Given the description of an element on the screen output the (x, y) to click on. 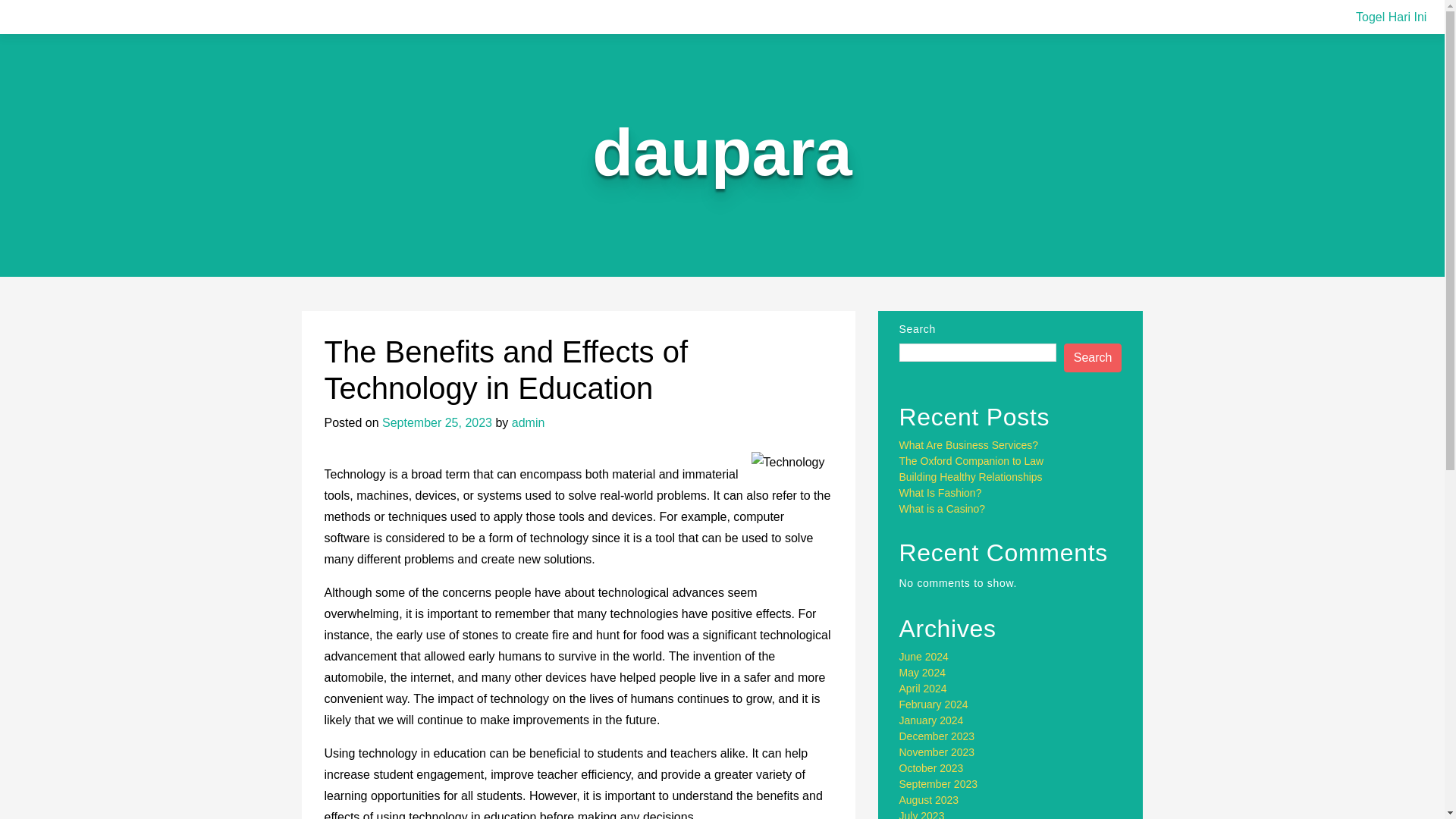
February 2024 (933, 704)
Search (1093, 357)
admin (528, 422)
September 2023 (938, 784)
What is a Casino? (942, 508)
Building Healthy Relationships (970, 476)
What Is Fashion? (940, 492)
May 2024 (921, 672)
December 2023 (937, 736)
November 2023 (937, 752)
October 2023 (931, 767)
September 25, 2023 (436, 422)
August 2023 (929, 799)
The Oxford Companion to Law (971, 460)
What Are Business Services? (969, 444)
